Given the description of an element on the screen output the (x, y) to click on. 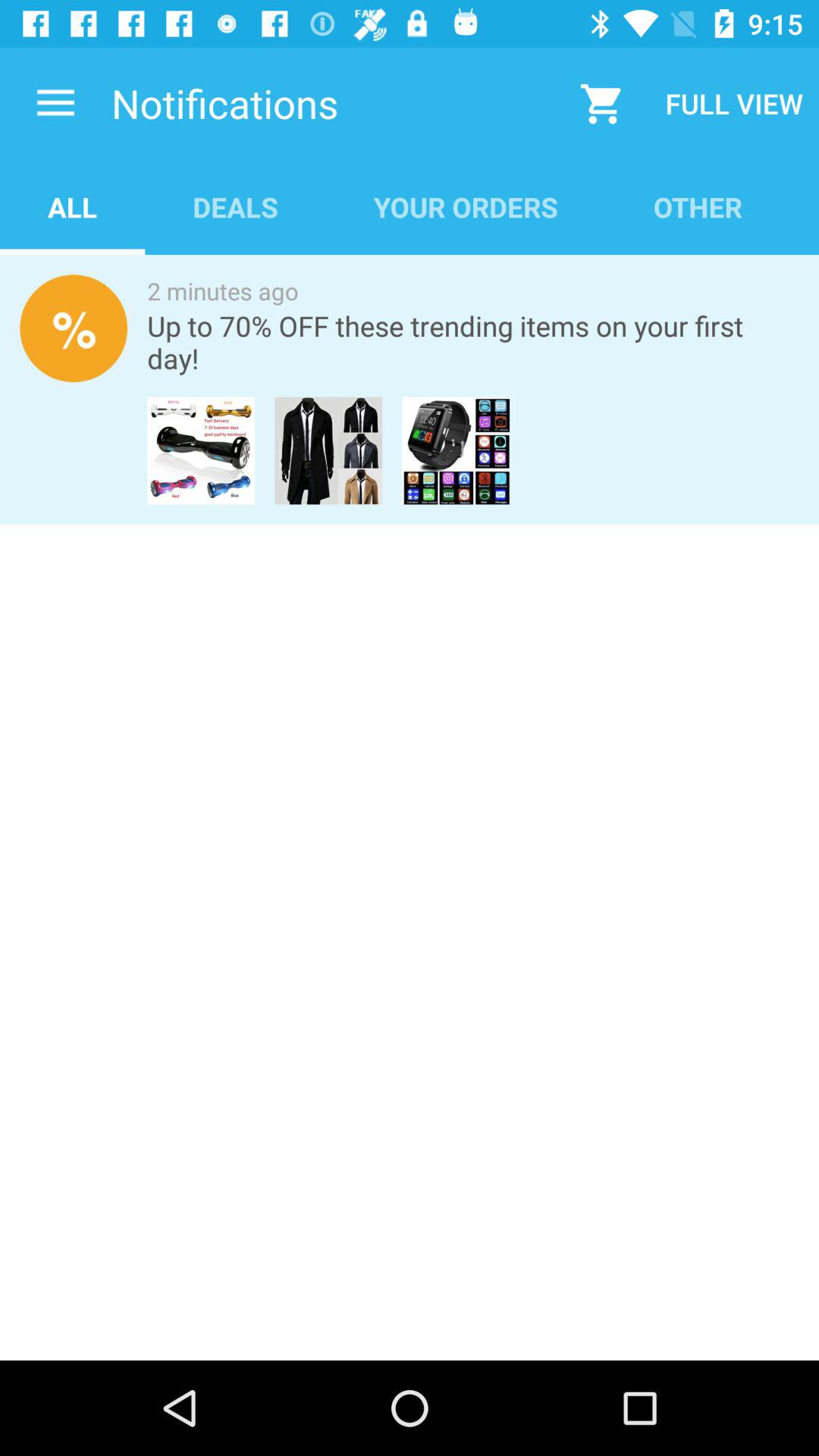
tap the deals (235, 206)
